Given the description of an element on the screen output the (x, y) to click on. 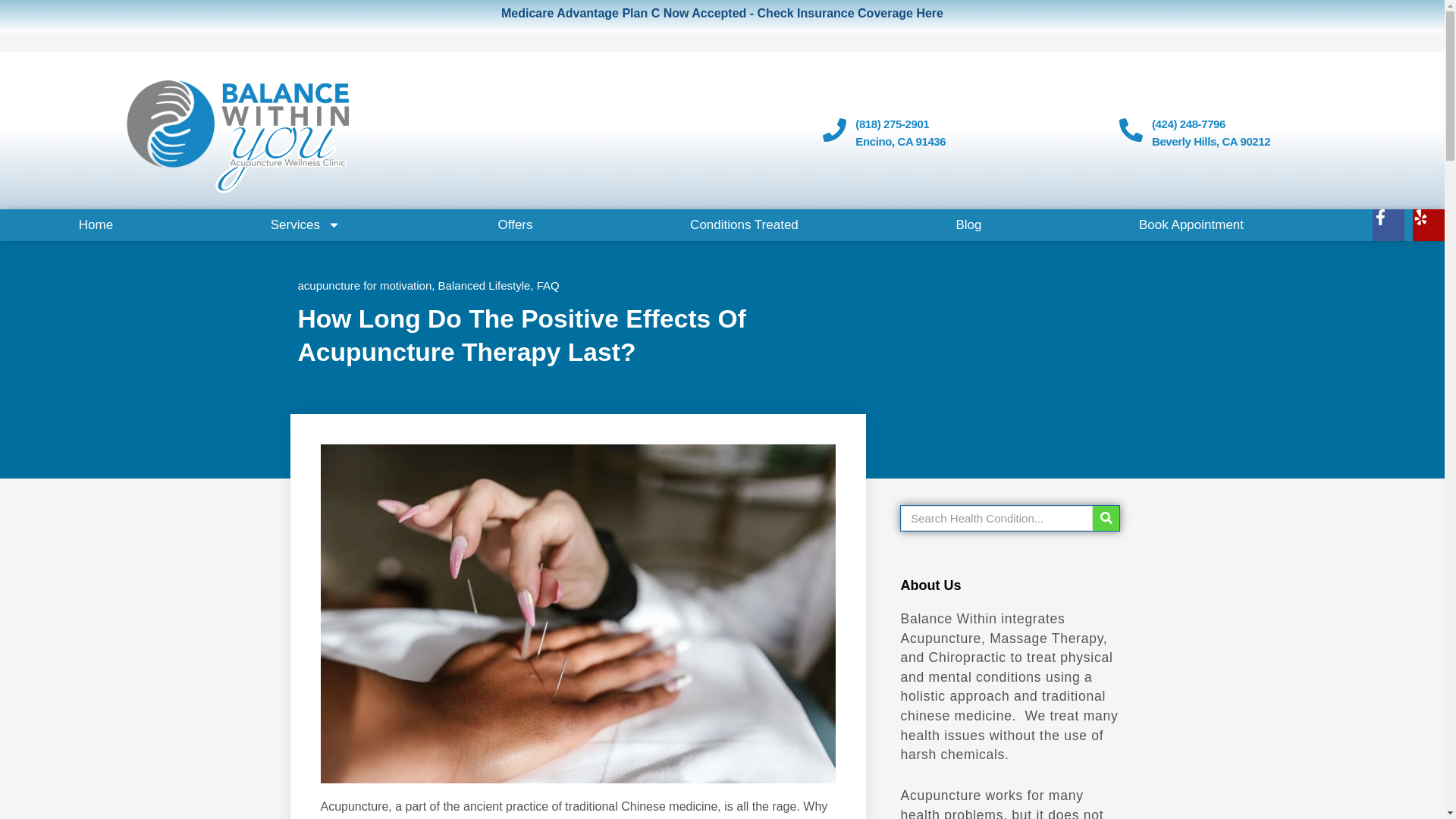
FAQ (548, 285)
Conditions Treated (743, 224)
Balanced Lifestyle (484, 285)
Book Appointment (1190, 224)
Offers (515, 224)
Services (305, 224)
Home (96, 224)
acupuncture for motivation (363, 285)
Blog (969, 224)
